Given the description of an element on the screen output the (x, y) to click on. 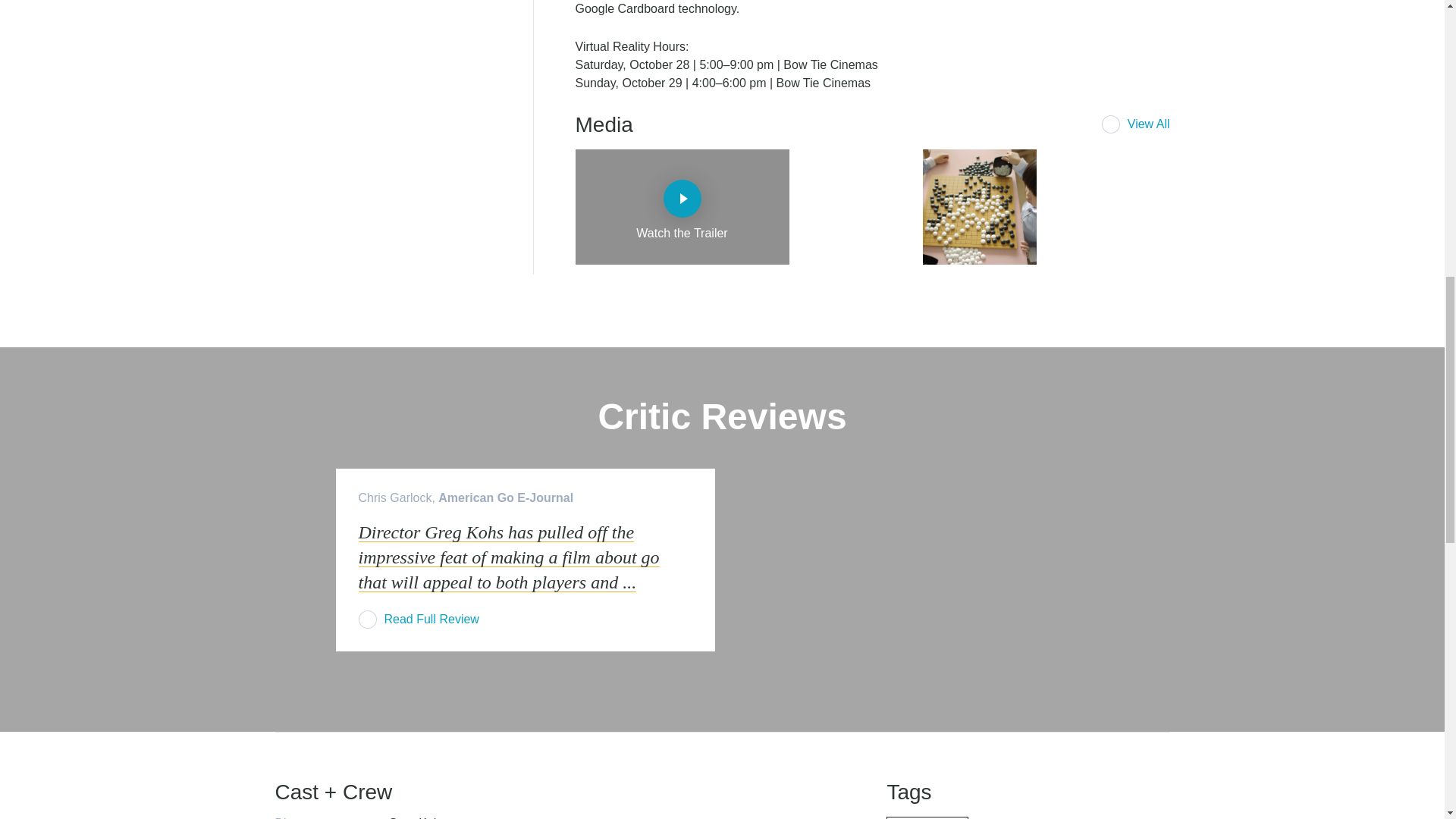
Watch the Trailer (682, 206)
Read Full Review (418, 617)
View All (1136, 124)
